Given the description of an element on the screen output the (x, y) to click on. 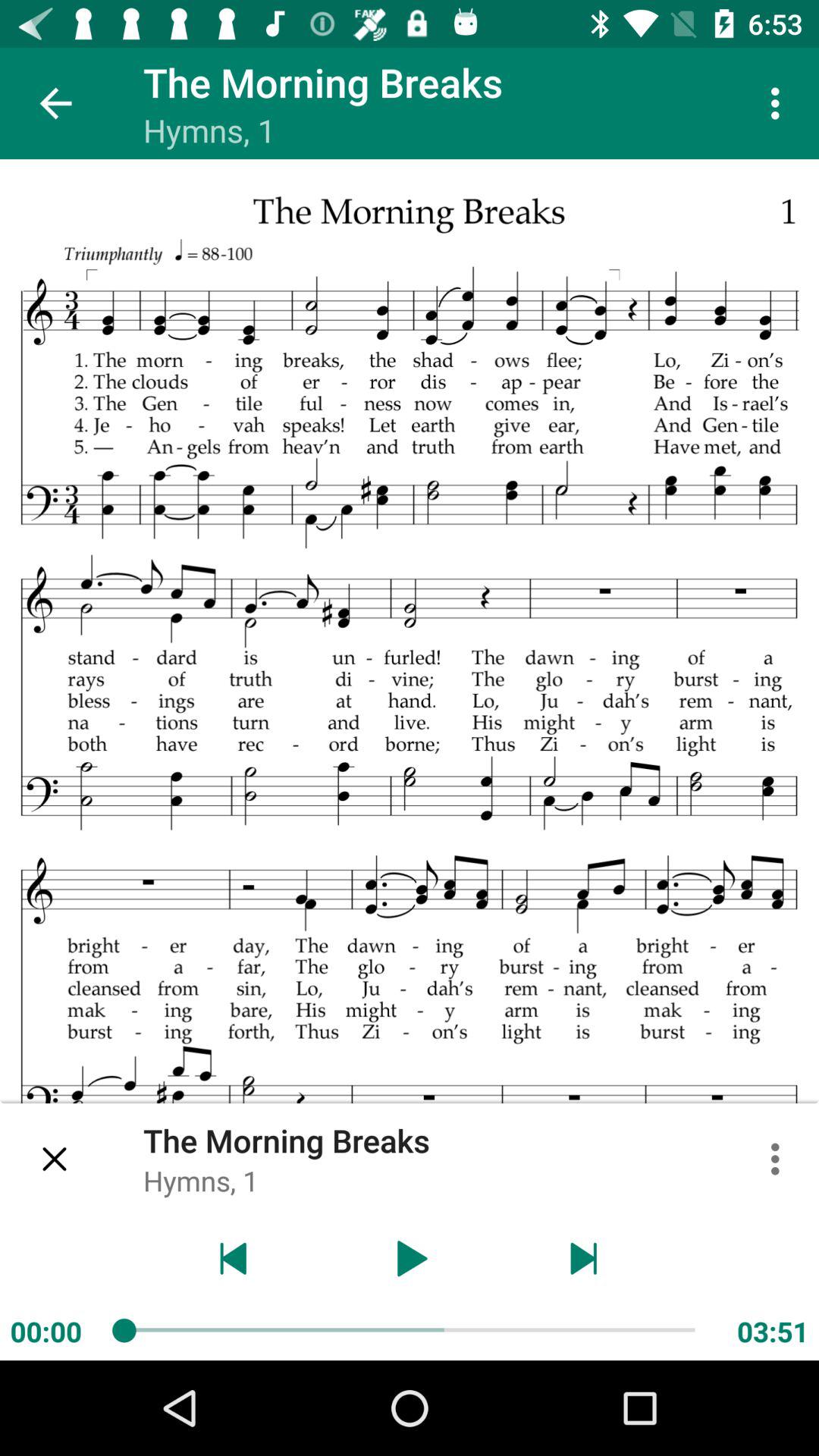
go to the previous sheet music (234, 1258)
